Given the description of an element on the screen output the (x, y) to click on. 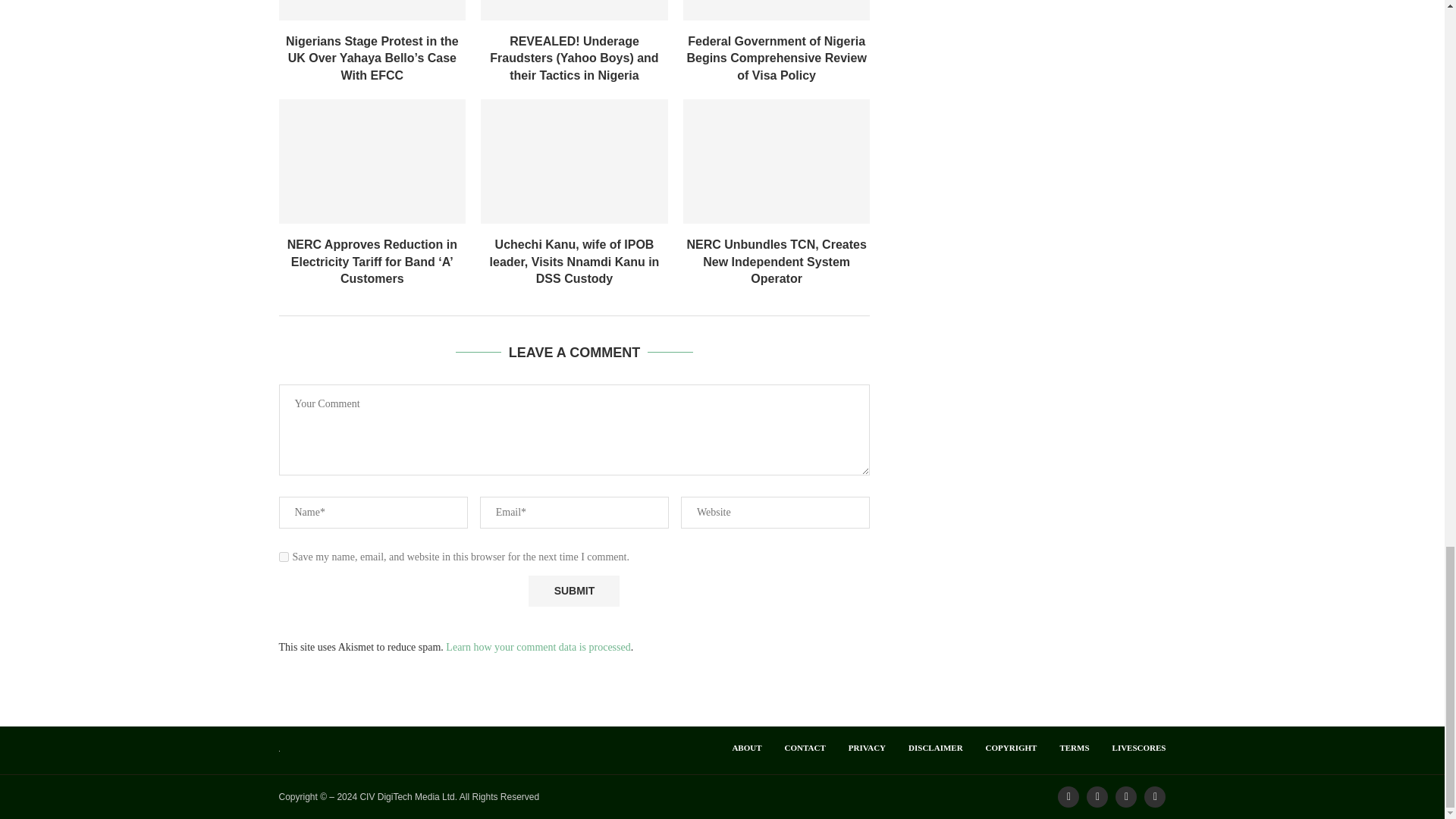
yes (283, 556)
NERC Unbundles TCN, Creates New Independent System Operator (776, 161)
Submit (574, 590)
